Given the description of an element on the screen output the (x, y) to click on. 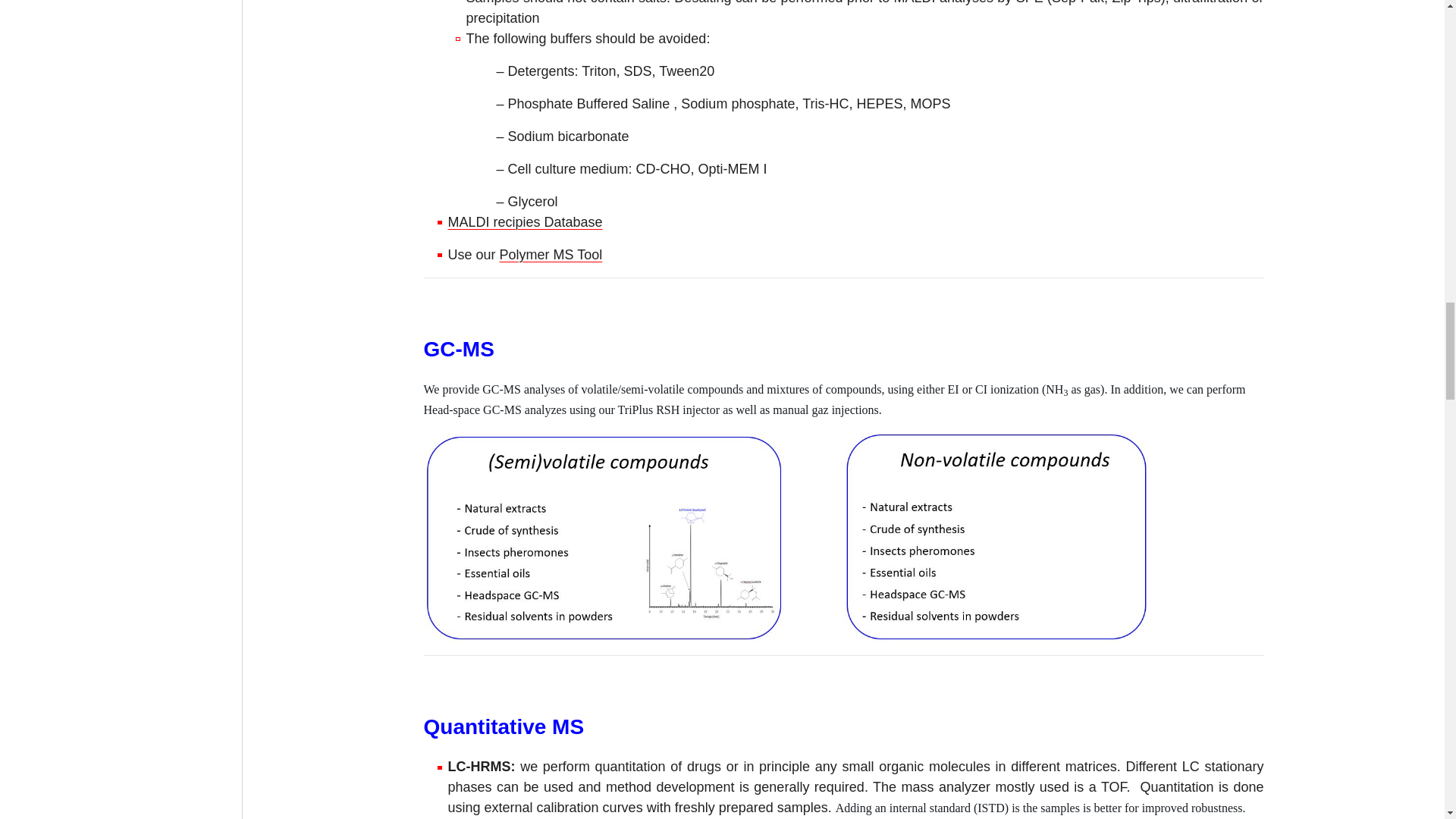
MALDI recipies Database (524, 222)
Polymer MS Tool (550, 254)
